Given the description of an element on the screen output the (x, y) to click on. 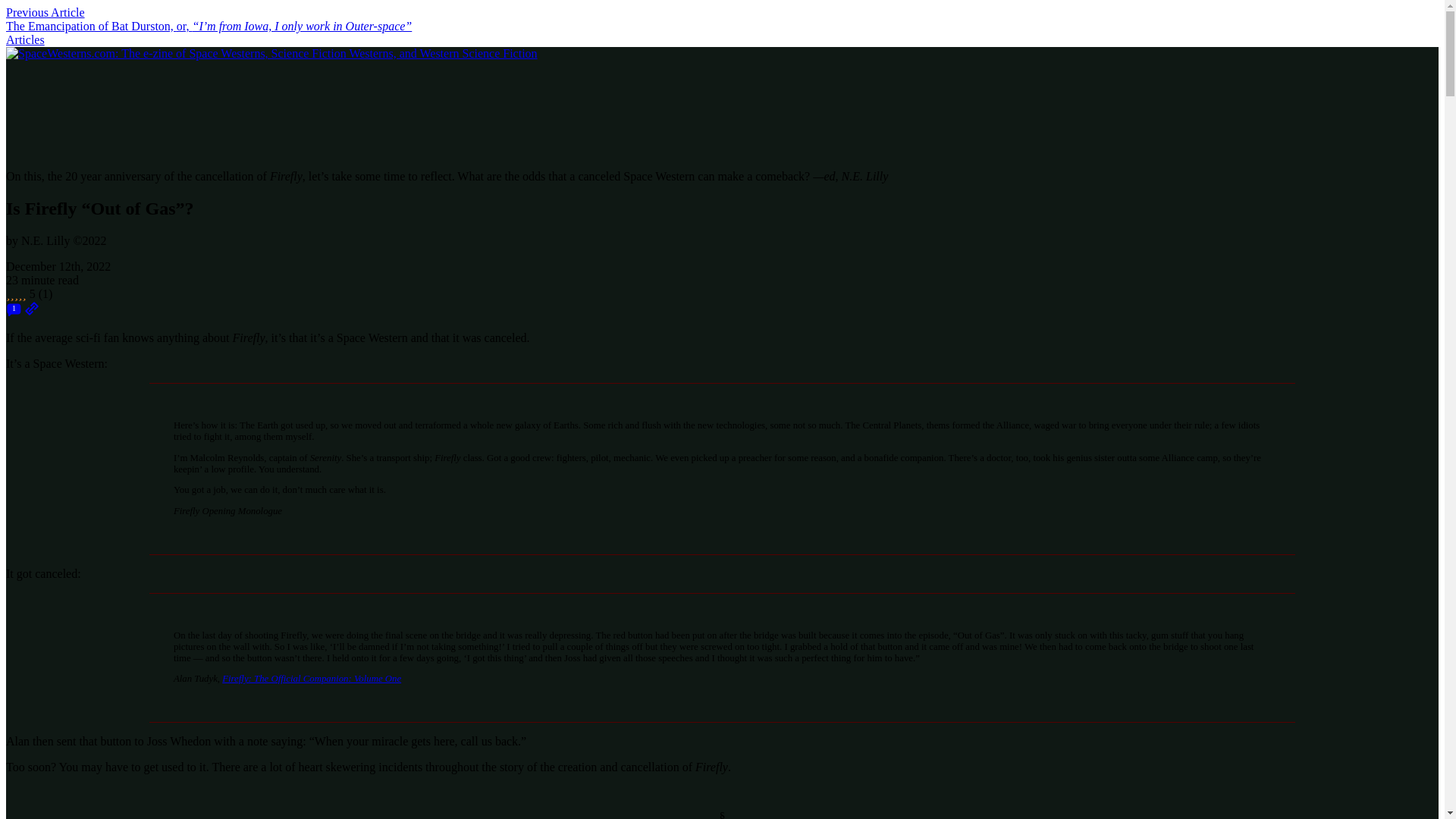
Firefly: The Official Companion: Volume One (311, 678)
1 (13, 311)
Articles (25, 39)
1 Comment (13, 311)
1 (13, 308)
